Given the description of an element on the screen output the (x, y) to click on. 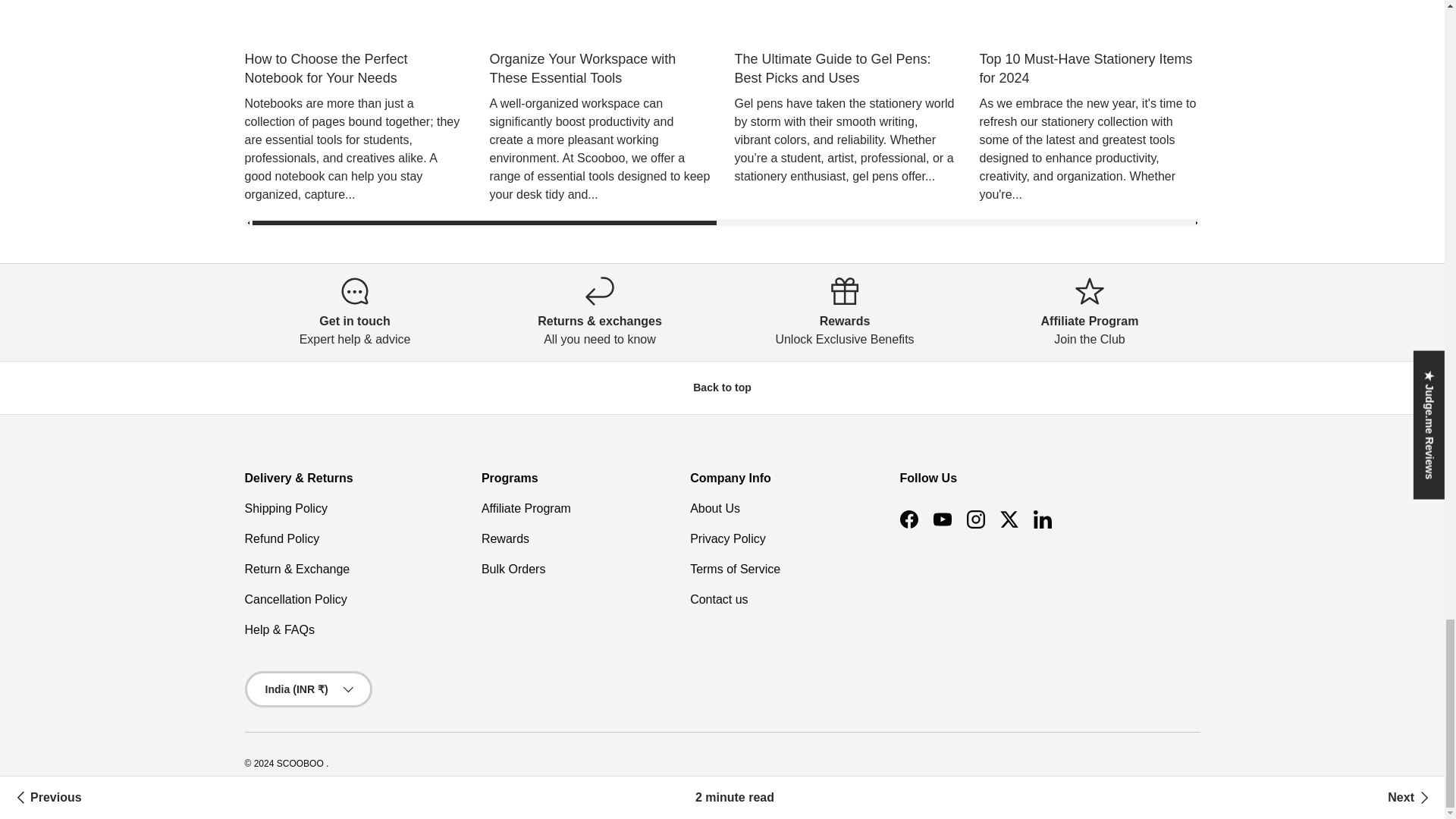
SCOOBOO  on YouTube (941, 519)
SCOOBOO  on LinkedIn (1041, 519)
SCOOBOO  on Facebook (907, 519)
SCOOBOO  on Instagram (974, 519)
SCOOBOO  on Twitter (1008, 519)
